Given the description of an element on the screen output the (x, y) to click on. 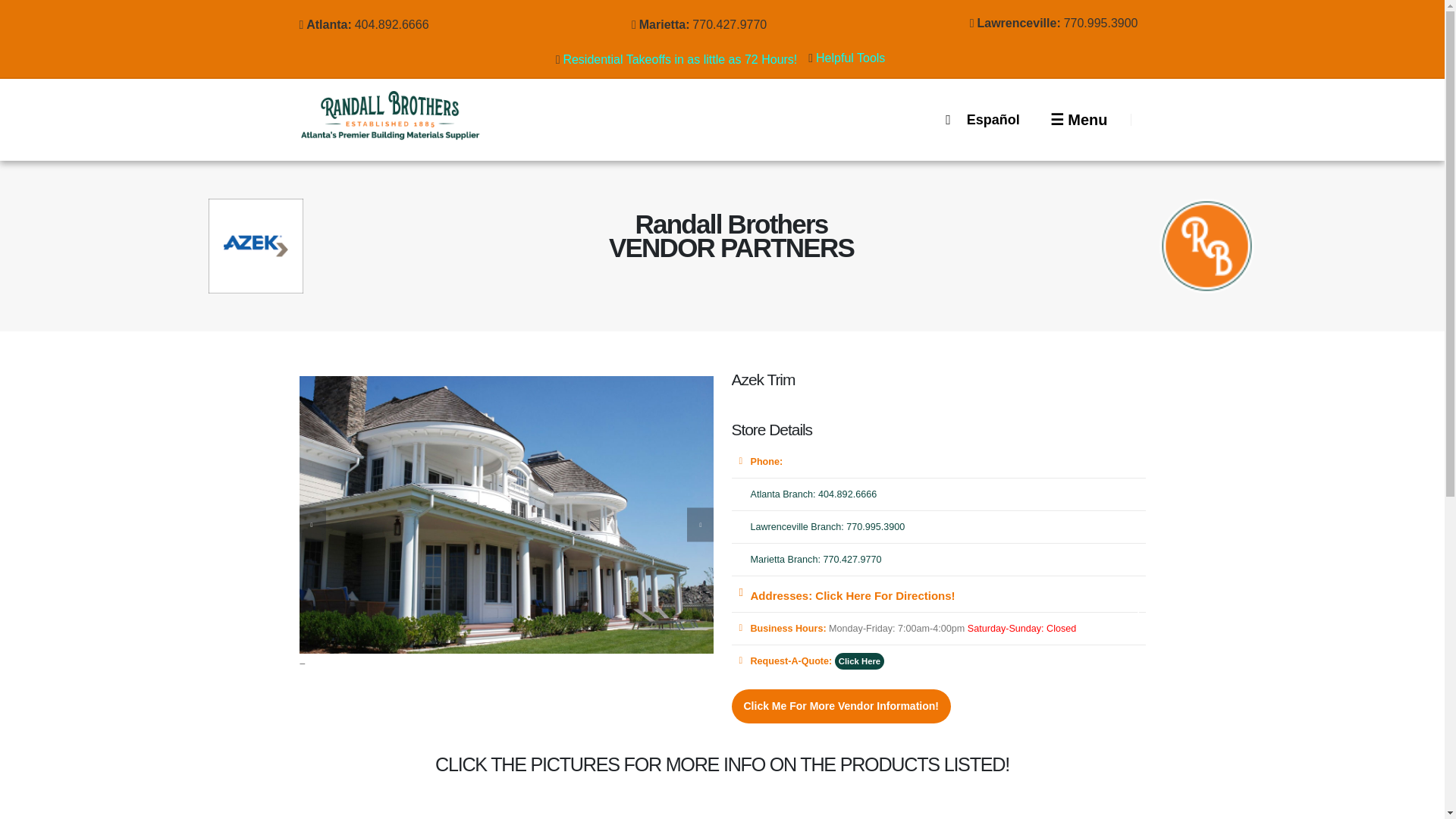
Helpful Tools (853, 57)
Top Telephone Link for Lawrenceville Branch (1104, 22)
770.995.3900 (1104, 22)
404.892.6666 (395, 24)
TakeOff Requests (683, 59)
Residential Takeoffs in as little as 72 Hours! (683, 59)
770.427.9770 (733, 24)
Top Telephone Link for Marietta Branch (733, 24)
Helpful Tools (853, 57)
Top Telephone Link for Atlanta Branch (395, 24)
